Given the description of an element on the screen output the (x, y) to click on. 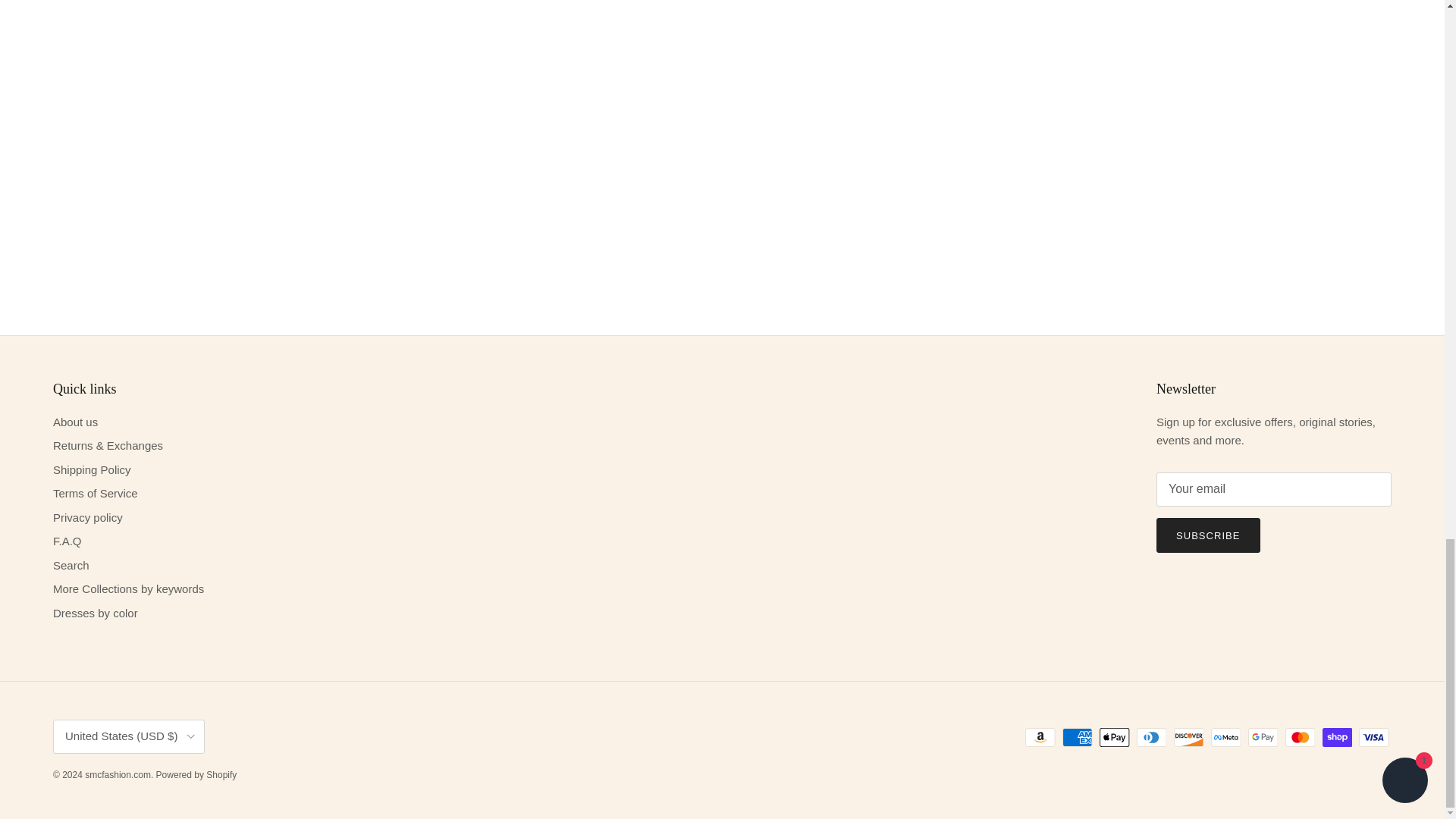
Visa (1373, 737)
Shop Pay (1337, 737)
Google Pay (1262, 737)
Mastercard (1299, 737)
Meta Pay (1225, 737)
Amazon (1040, 737)
Apple Pay (1114, 737)
American Express (1077, 737)
Discover (1188, 737)
Diners Club (1151, 737)
